Given the description of an element on the screen output the (x, y) to click on. 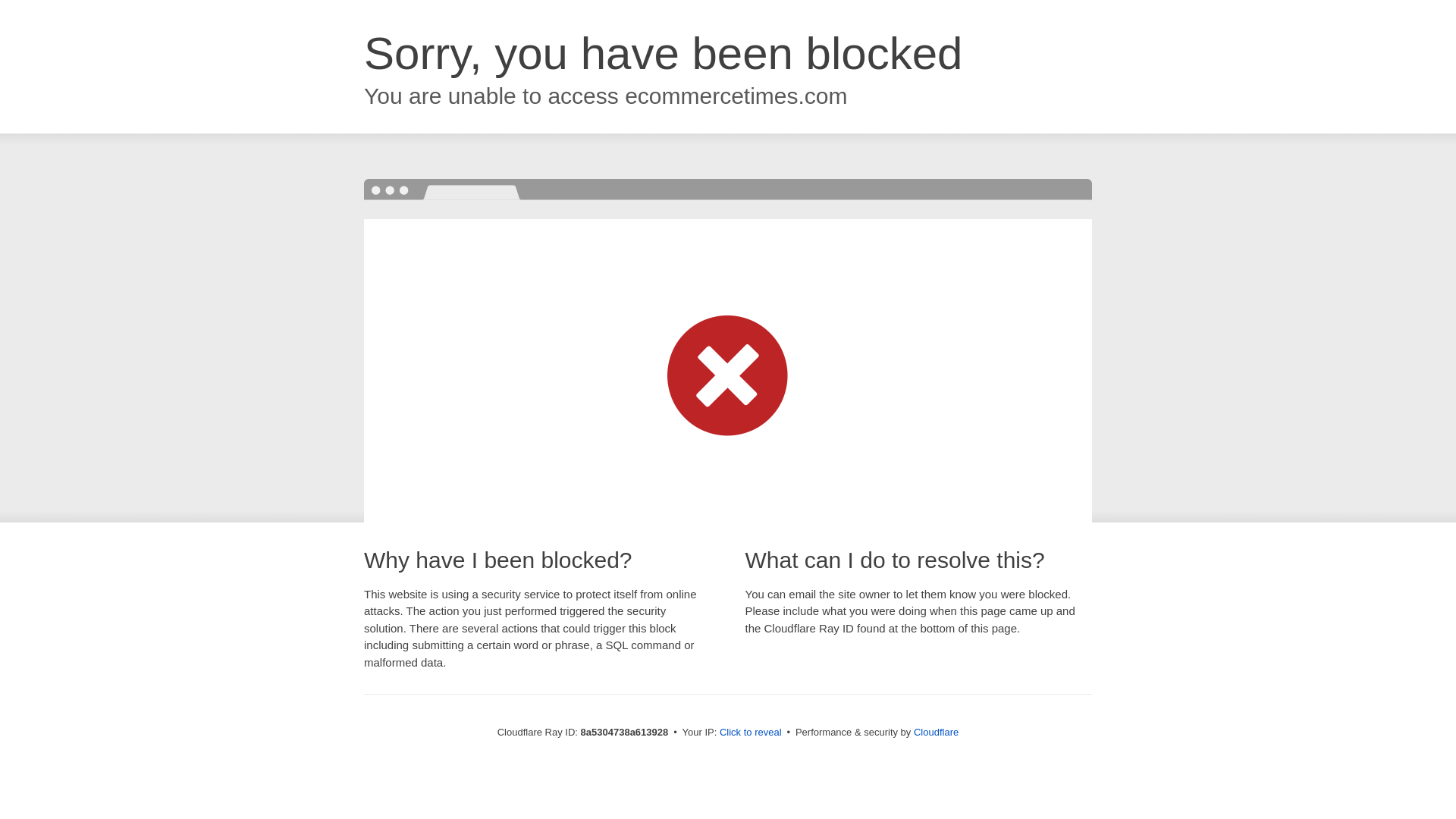
Cloudflare (936, 731)
Click to reveal (750, 732)
